Given the description of an element on the screen output the (x, y) to click on. 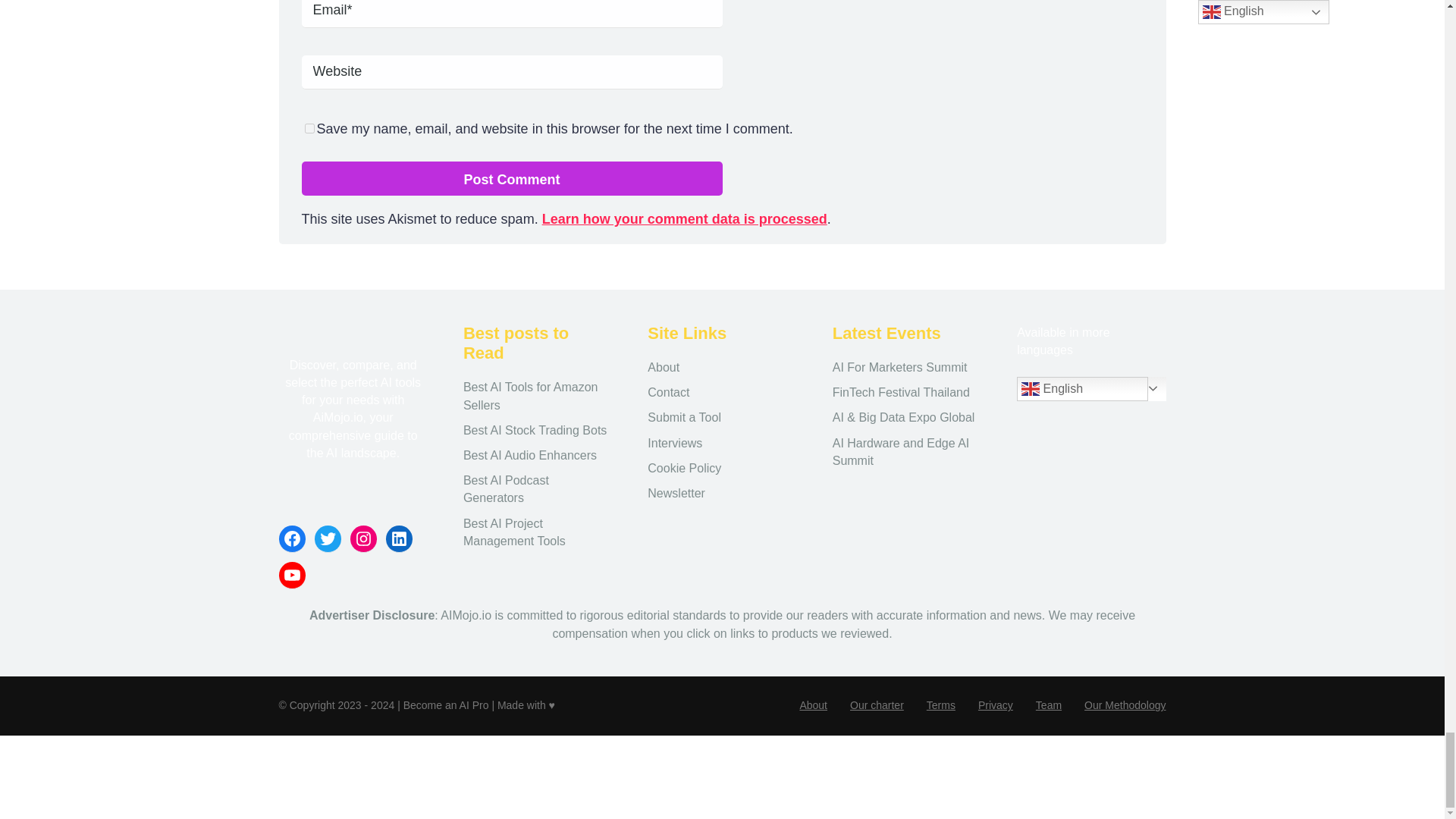
yes (309, 128)
Post Comment (511, 178)
Post Comment (511, 178)
Learn how your comment data is processed (684, 218)
